Given the description of an element on the screen output the (x, y) to click on. 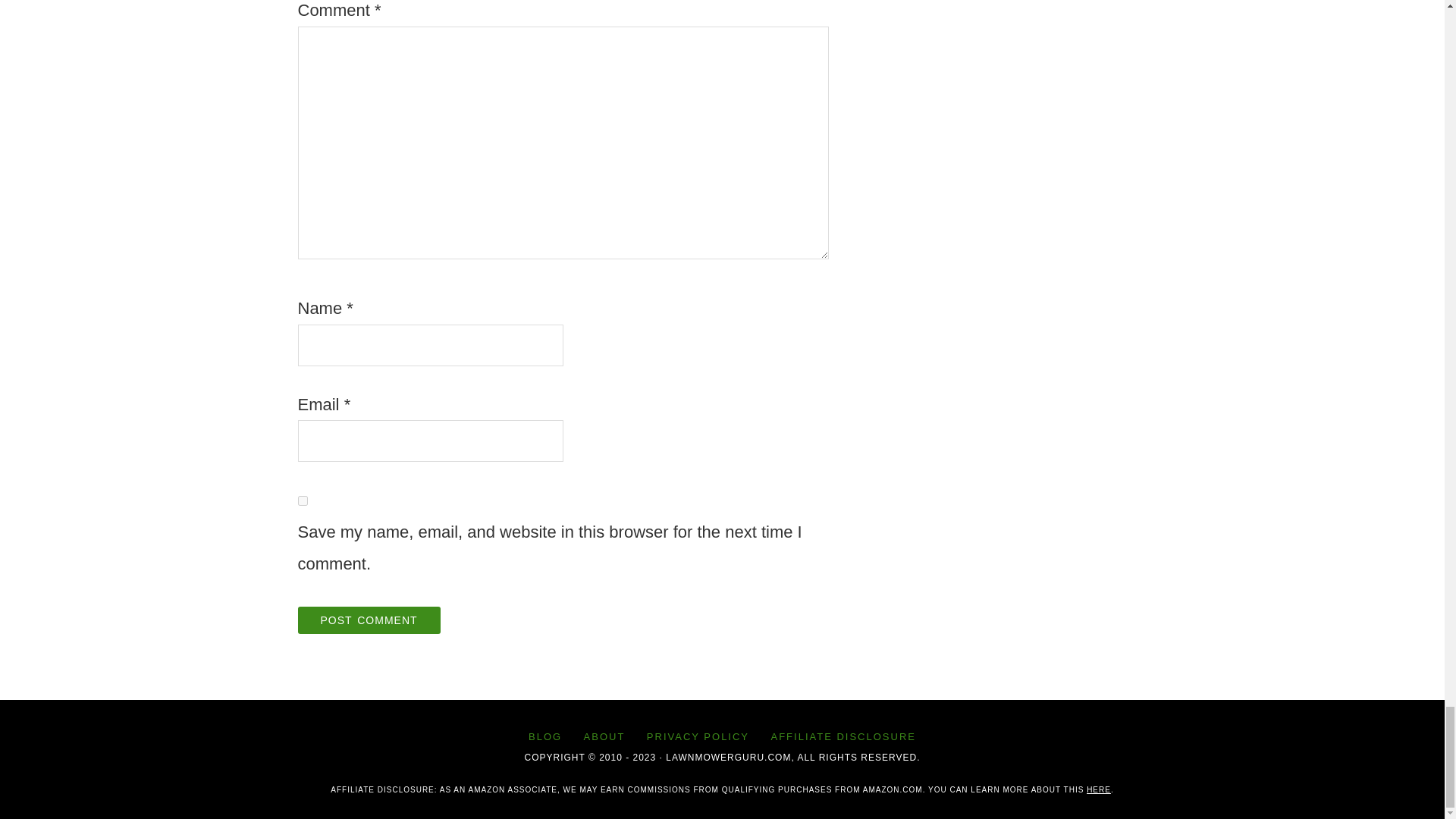
ABOUT (604, 736)
yes (302, 501)
BLOG (544, 736)
HERE (1098, 789)
PRIVACY POLICY (697, 736)
AFFILIATE DISCLOSURE (842, 736)
Post Comment (368, 619)
Post Comment (368, 619)
